Given the description of an element on the screen output the (x, y) to click on. 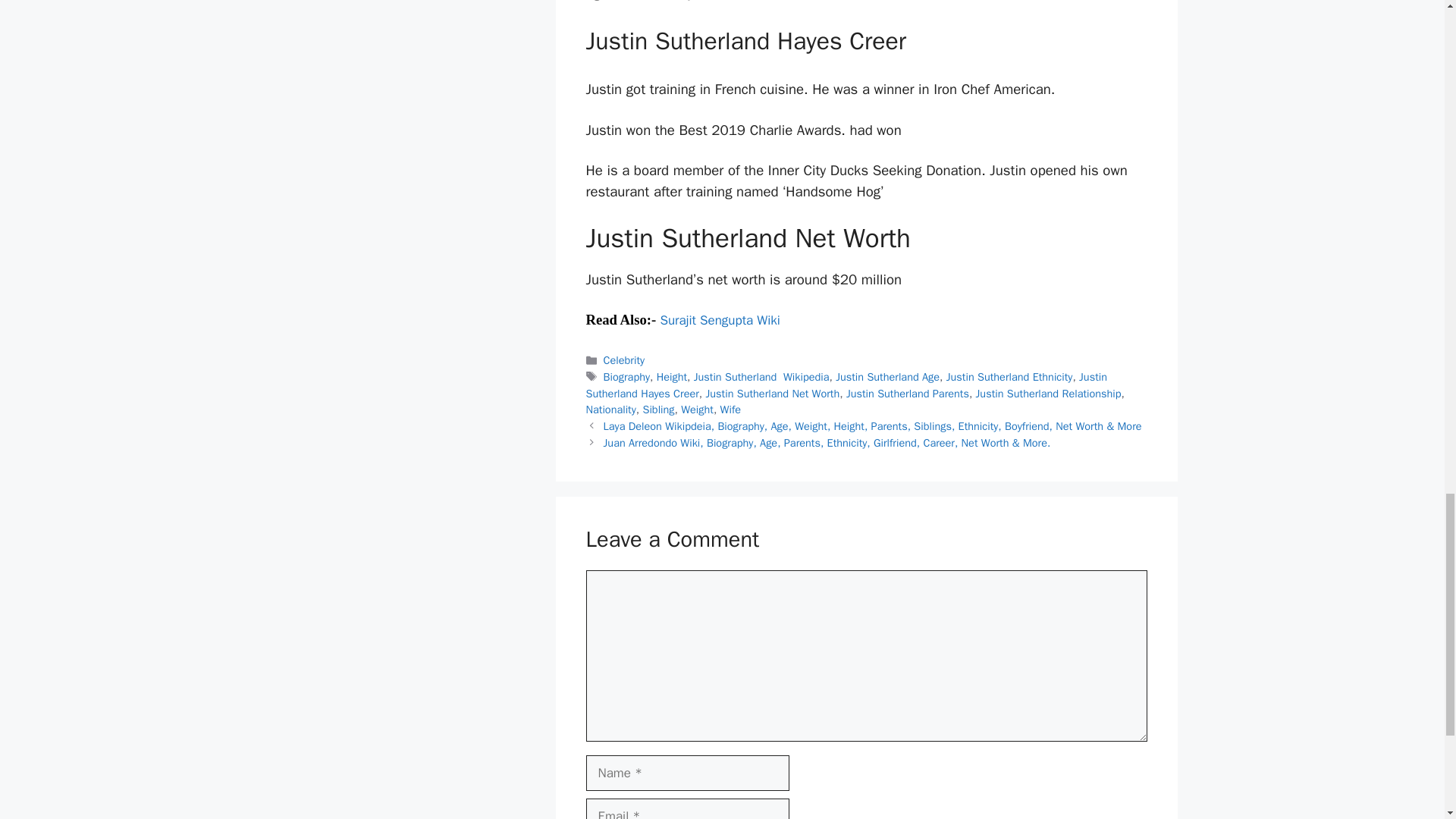
Weight (697, 409)
Sibling (658, 409)
Celebrity (624, 359)
Justin Sutherland Net Worth (773, 393)
Biography (626, 377)
Surajit Sengupta Wiki (719, 320)
Justin Sutherland Hayes Creer (845, 385)
Justin Sutherland  Wikipedia (761, 377)
Justin Sutherland Ethnicity (1009, 377)
Justin Sutherland Age (887, 377)
Height (671, 377)
Justin Sutherland Relationship (1048, 393)
Nationality (609, 409)
Justin Sutherland Parents (907, 393)
Wife (730, 409)
